Given the description of an element on the screen output the (x, y) to click on. 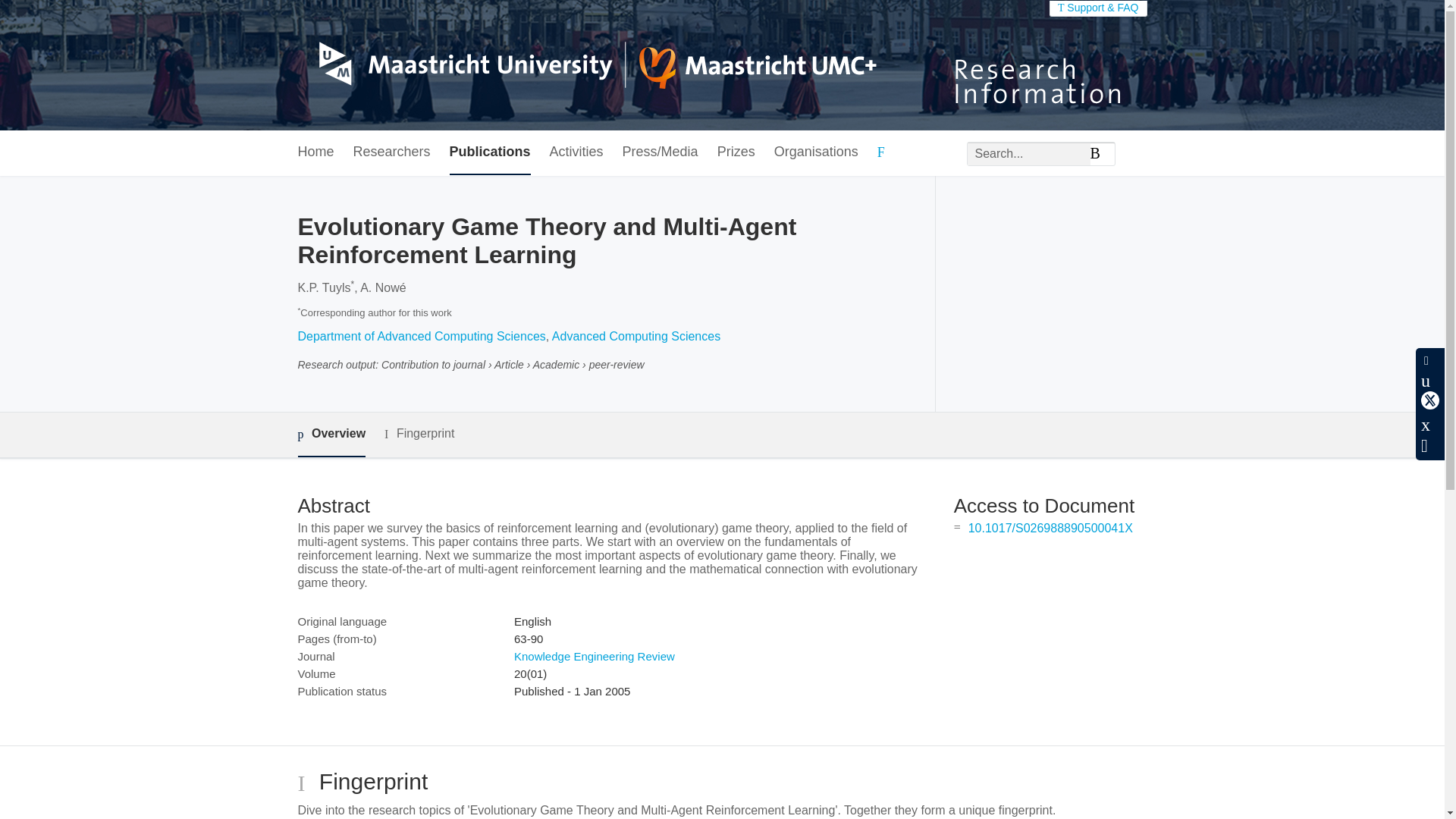
Maastricht University Home (586, 64)
Organisations (816, 152)
Department of Advanced Computing Sciences (420, 336)
Knowledge Engineering Review (594, 656)
Overview (331, 434)
Publications (490, 152)
Advanced Computing Sciences (635, 336)
Activities (577, 152)
Researchers (391, 152)
Fingerprint (419, 433)
